Given the description of an element on the screen output the (x, y) to click on. 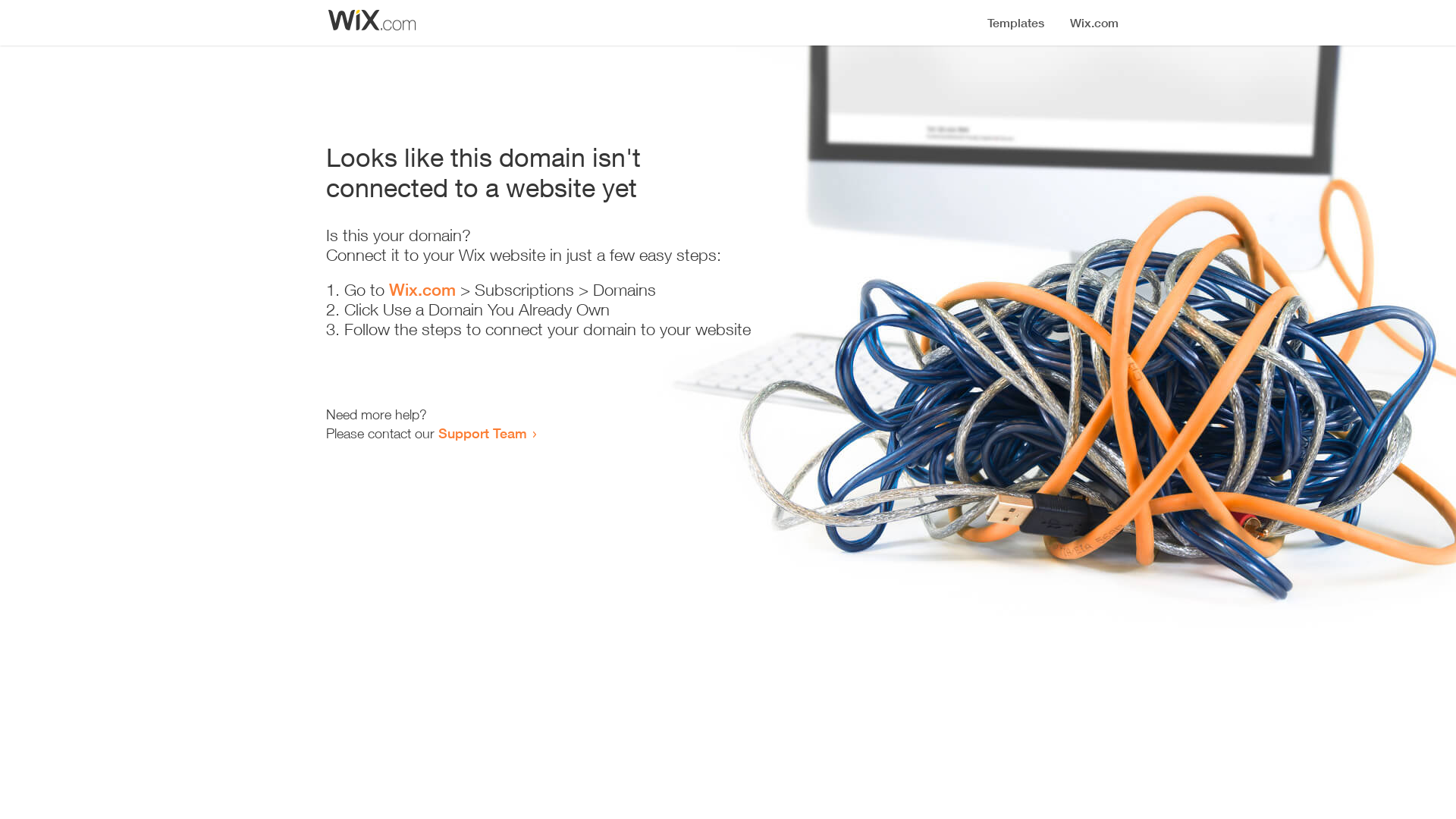
Support Team Element type: text (482, 432)
Wix.com Element type: text (422, 289)
